Given the description of an element on the screen output the (x, y) to click on. 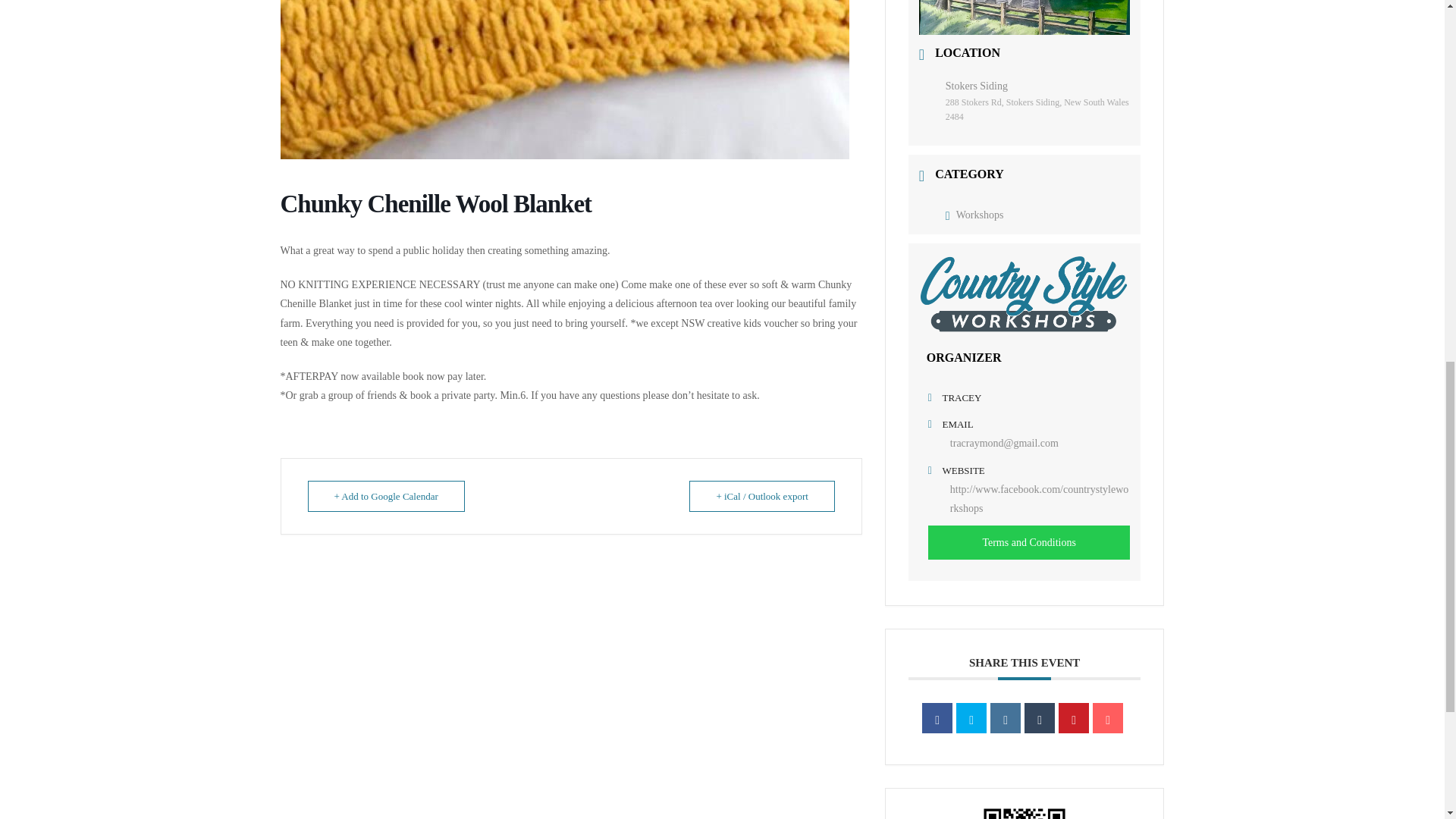
Tweet (971, 717)
Share on Pinterest (1073, 717)
Share on Tumblr (1039, 717)
Email (1107, 717)
Linkedin (1005, 717)
Share on Facebook (936, 717)
